Given the description of an element on the screen output the (x, y) to click on. 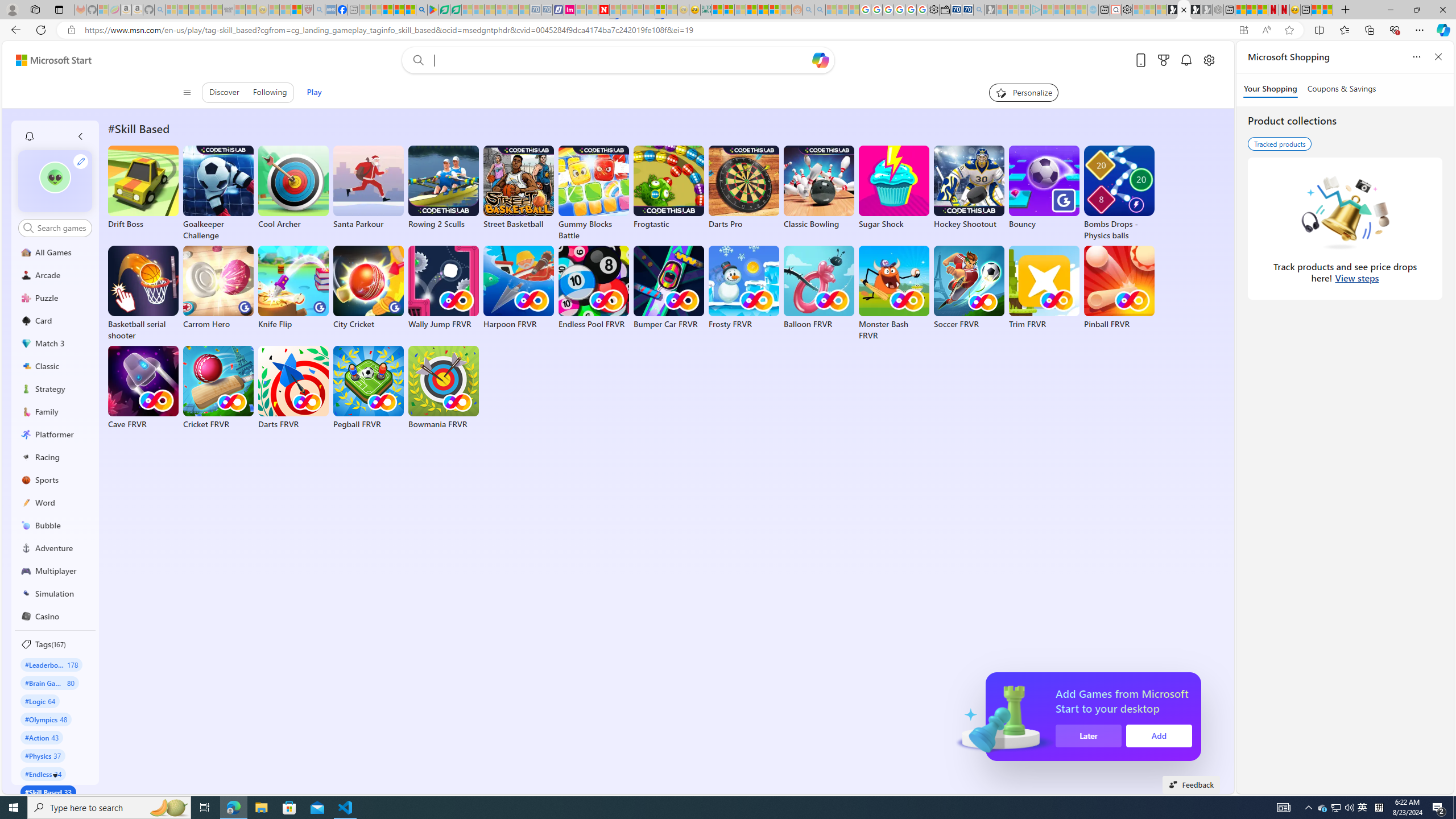
Bouncy (1043, 187)
Classic Bowling (818, 187)
Soccer FRVR (968, 287)
